Given the description of an element on the screen output the (x, y) to click on. 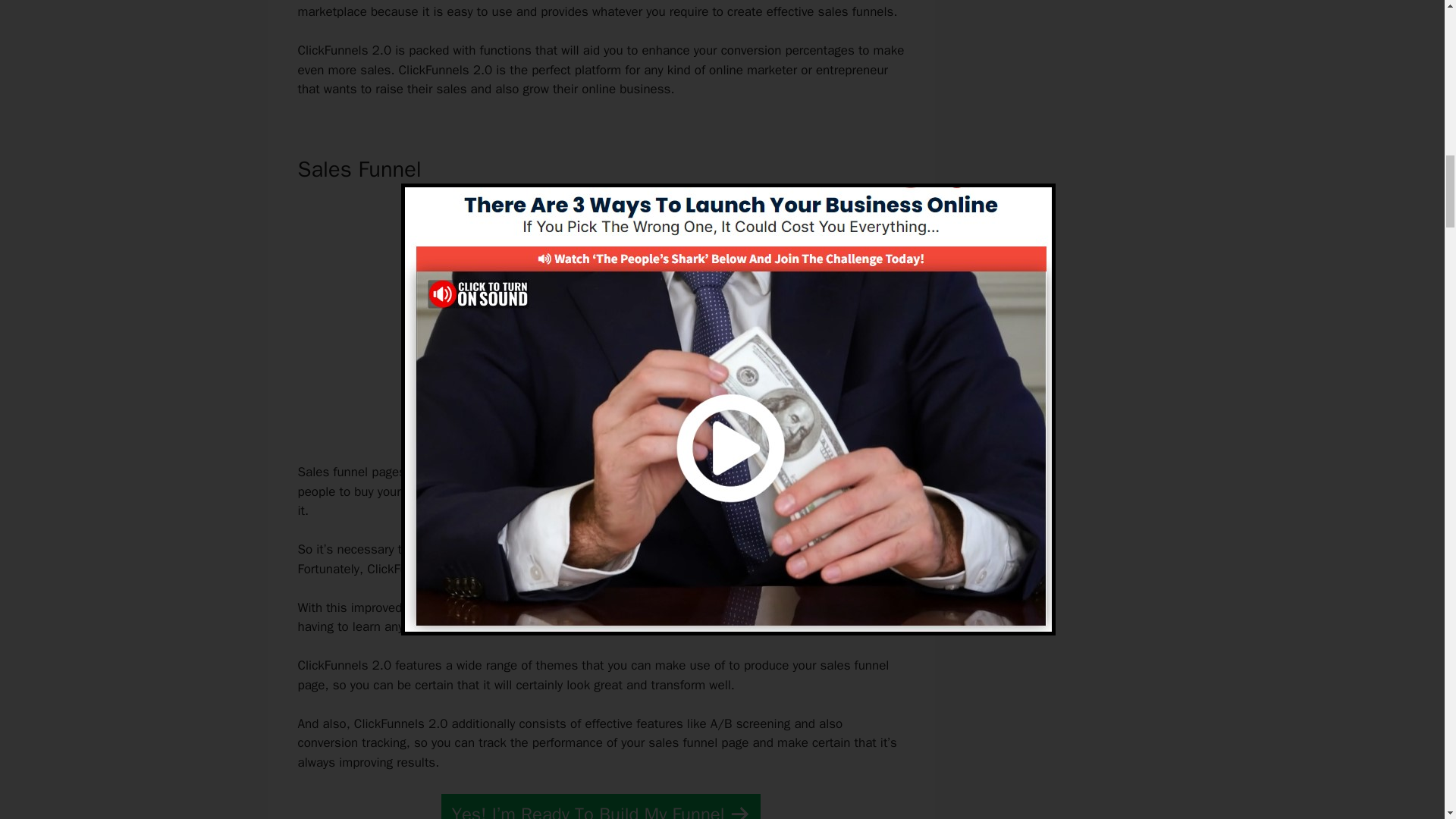
YouTube video player (596, 318)
